Given the description of an element on the screen output the (x, y) to click on. 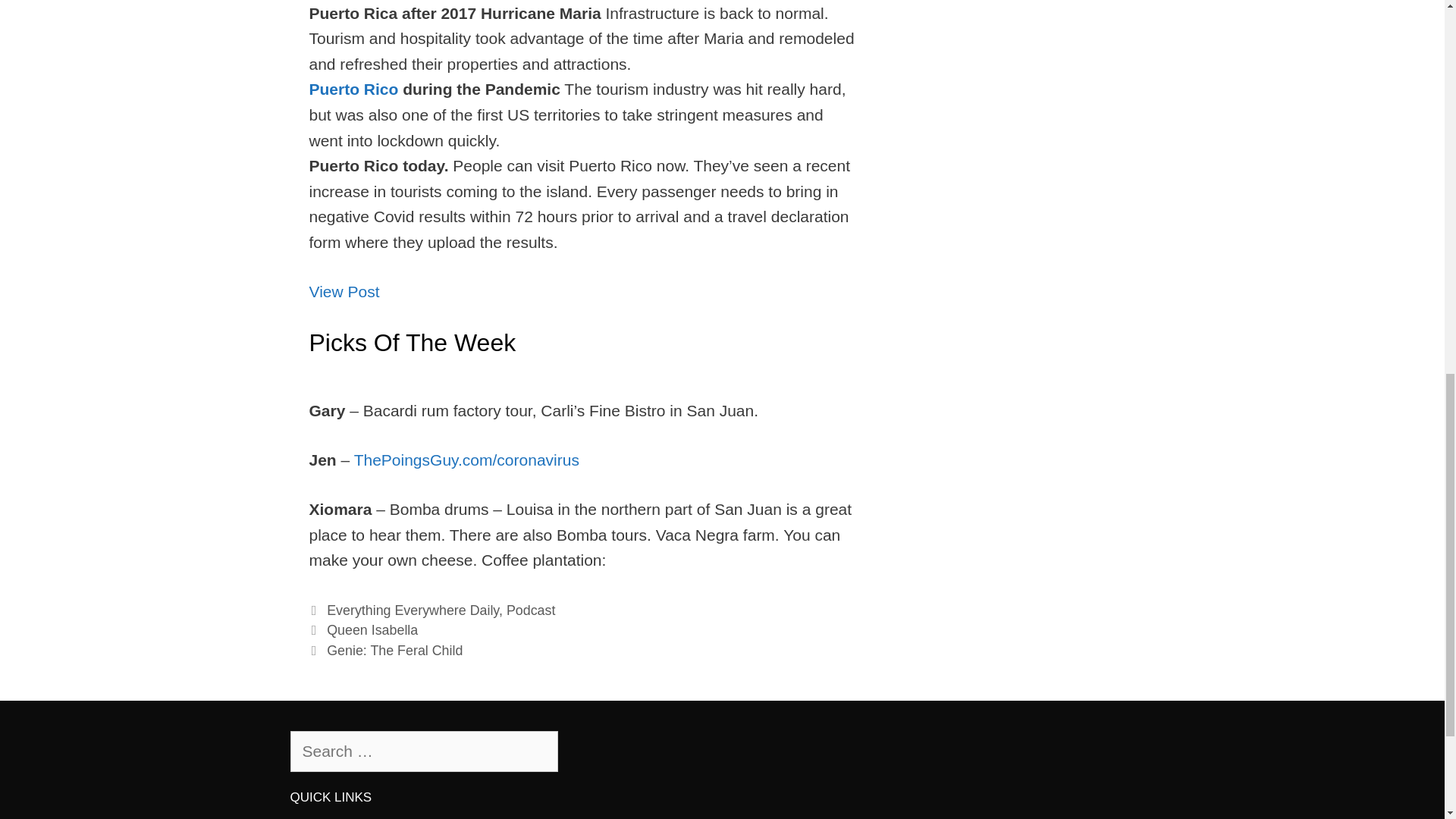
Everything Everywhere Daily (412, 610)
View Post (344, 291)
Genie: The Feral Child (394, 650)
Queen Isabella (371, 630)
Puerto Rico (353, 88)
Podcast (530, 610)
Scroll back to top (1406, 720)
Search for: (423, 751)
